Given the description of an element on the screen output the (x, y) to click on. 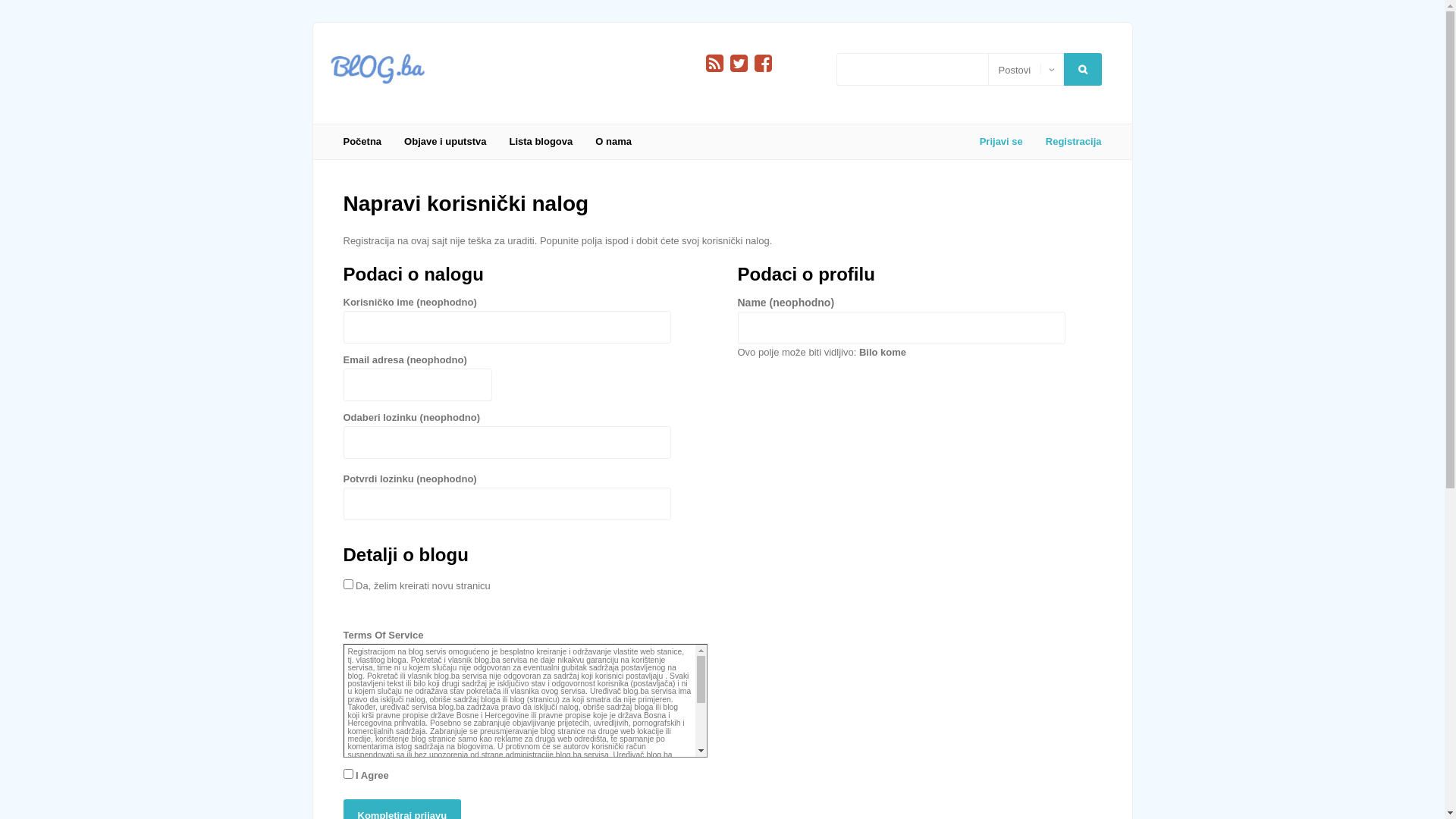
Registracija Element type: text (1067, 141)
creativecommons.org Element type: text (384, 794)
Lista blogova Element type: text (540, 141)
Facebook Element type: hover (762, 63)
Prijavi se Element type: text (63, 232)
O nama Element type: text (613, 141)
RSS Feed Element type: hover (714, 63)
Twitter Element type: hover (738, 63)
Prijavi se Element type: text (1001, 141)
Objave i uputstva Element type: text (444, 141)
